Given the description of an element on the screen output the (x, y) to click on. 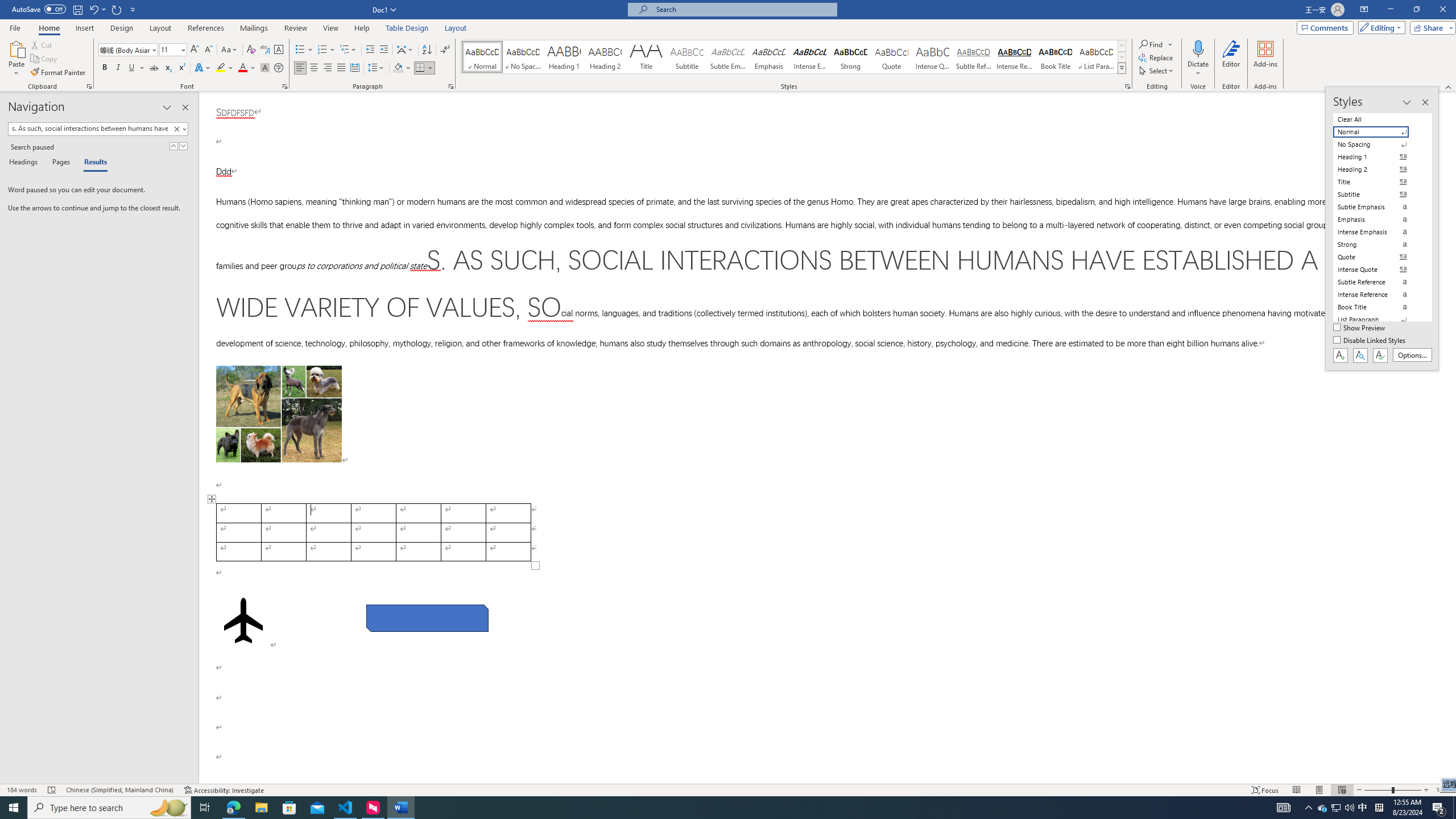
Grow Font (193, 49)
Table Design (407, 28)
Phonetic Guide... (264, 49)
Character Shading (264, 67)
Microsoft search (742, 9)
Class: NetUIButton (1380, 355)
Pages (59, 162)
Zoom 100% (1443, 790)
Clear All (1377, 119)
